Given the description of an element on the screen output the (x, y) to click on. 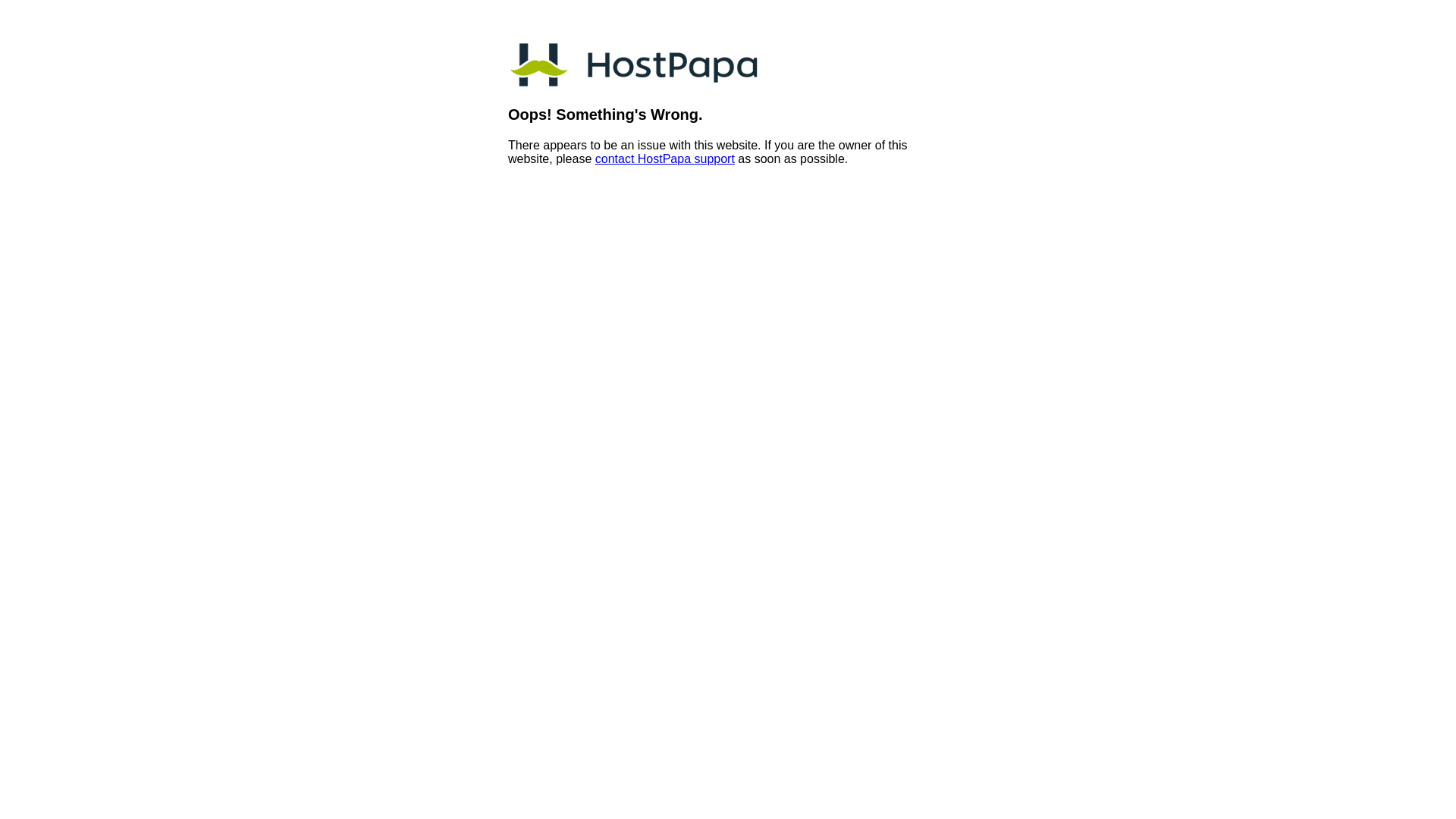
contact HostPapa support Element type: text (664, 158)
